Given the description of an element on the screen output the (x, y) to click on. 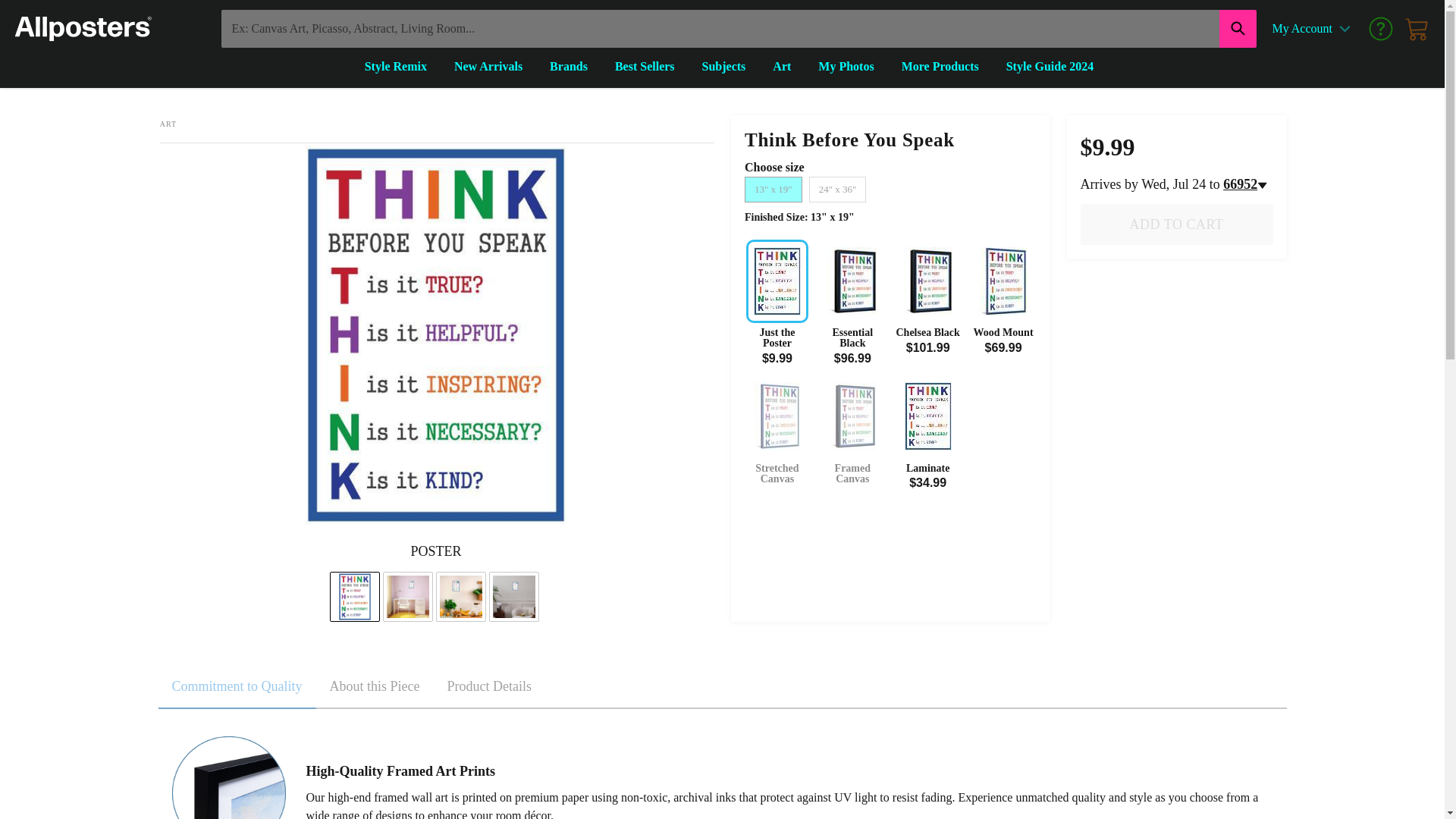
Product Details (488, 686)
AllPosters.com (82, 28)
ART (168, 123)
Style Remix (395, 66)
My Photos (846, 66)
13" x 19" (773, 189)
New Arrivals (487, 66)
24" x 36" (837, 189)
Commitment to Quality (236, 686)
Subjects (723, 66)
More Products (939, 66)
Art (782, 66)
Brands (569, 66)
ADD TO CART (1176, 223)
About this Piece (373, 686)
